Given the description of an element on the screen output the (x, y) to click on. 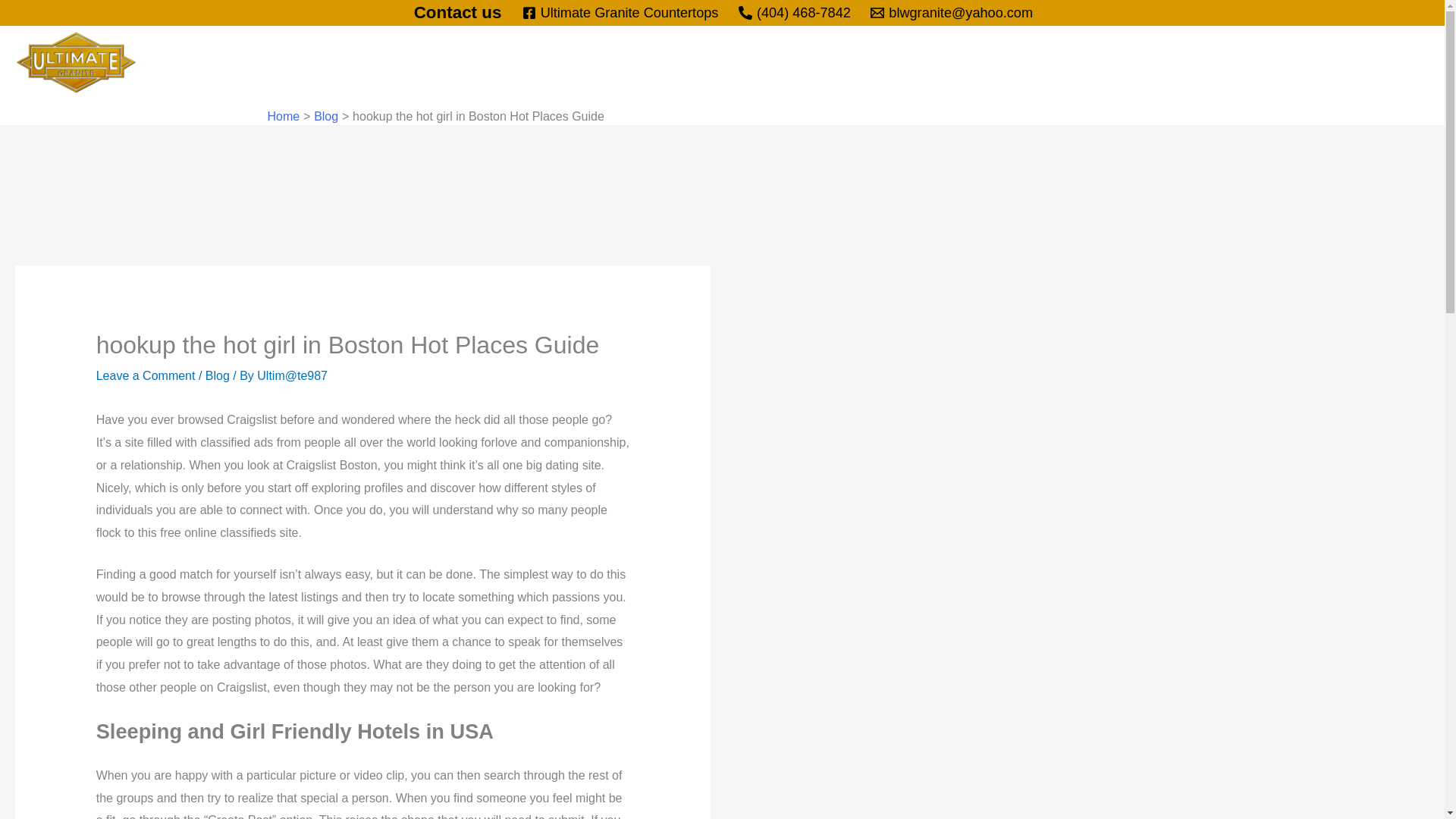
Gallery (1201, 62)
Blog (217, 375)
Ultimate Granite Countertops (619, 12)
Blog (325, 115)
Privacy Policy (1375, 62)
Contact Us (1278, 62)
Leave a Comment (145, 375)
Home (282, 115)
About Us (1129, 62)
Home (1061, 62)
